Given the description of an element on the screen output the (x, y) to click on. 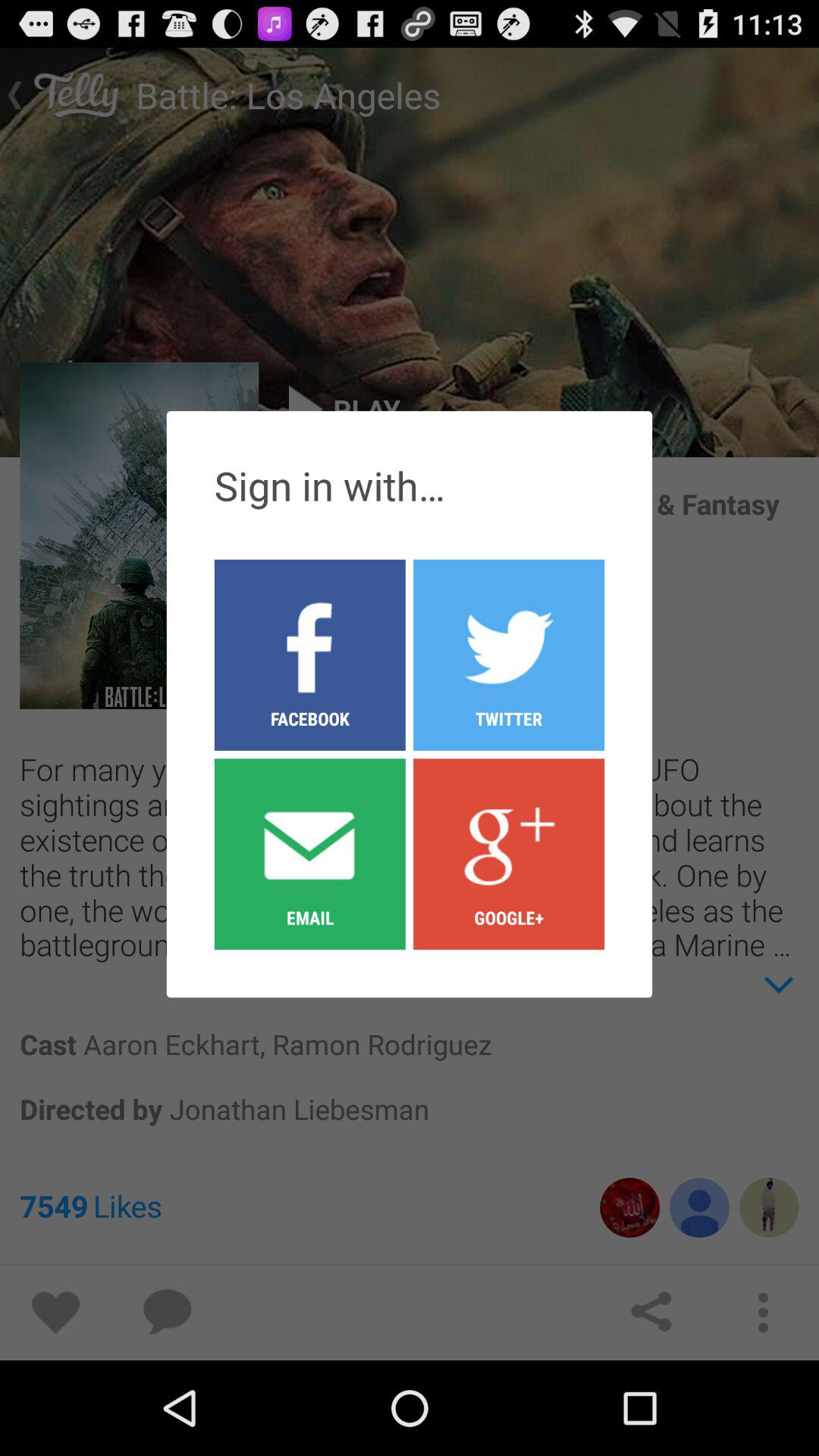
turn off the icon next to twitter item (309, 654)
